Given the description of an element on the screen output the (x, y) to click on. 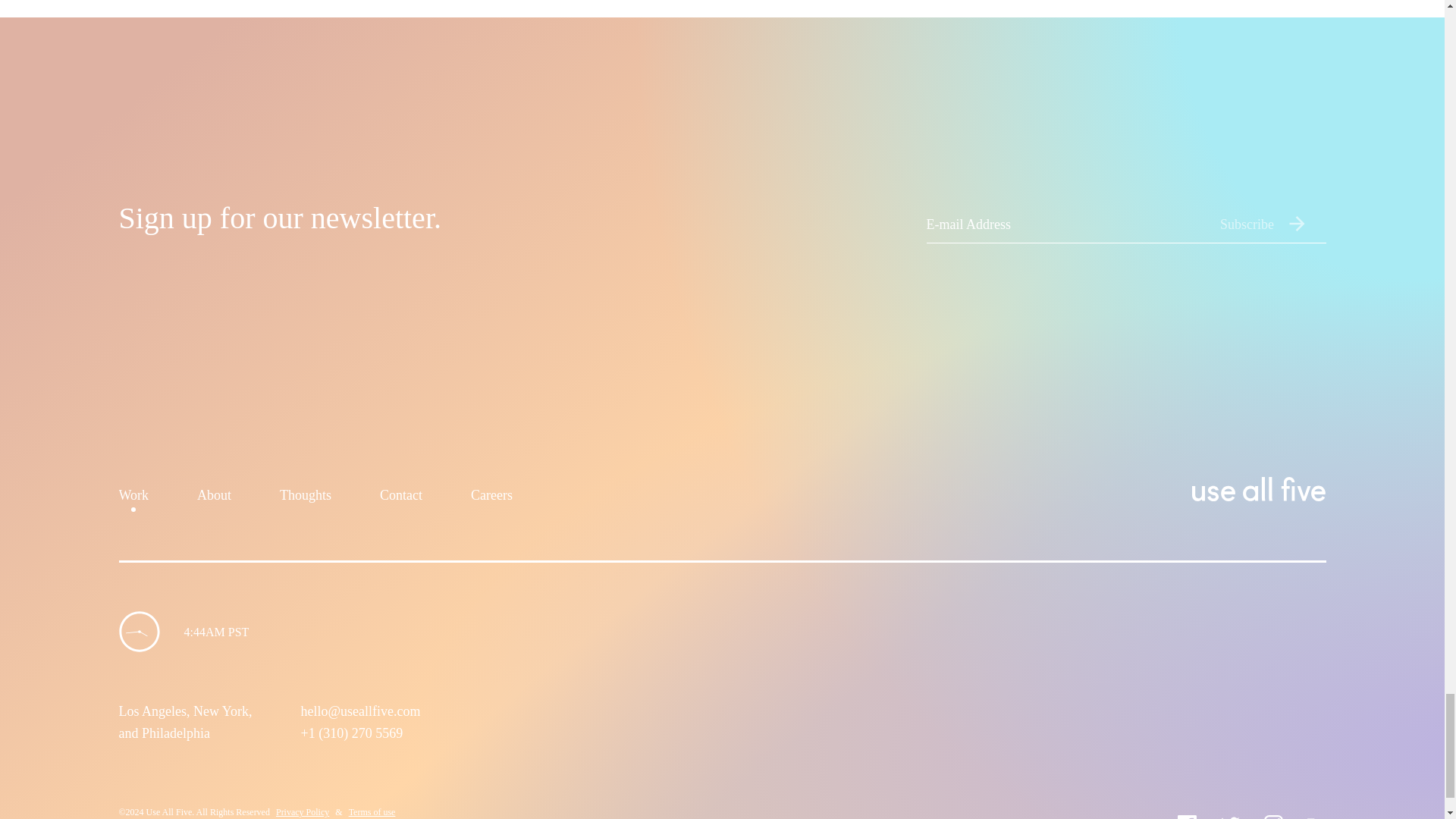
Privacy Policy (302, 811)
Terms of use (372, 811)
Contact (401, 498)
Subscribe (1272, 223)
Careers (491, 498)
About (213, 498)
Thoughts (305, 498)
Work (132, 498)
